Given the description of an element on the screen output the (x, y) to click on. 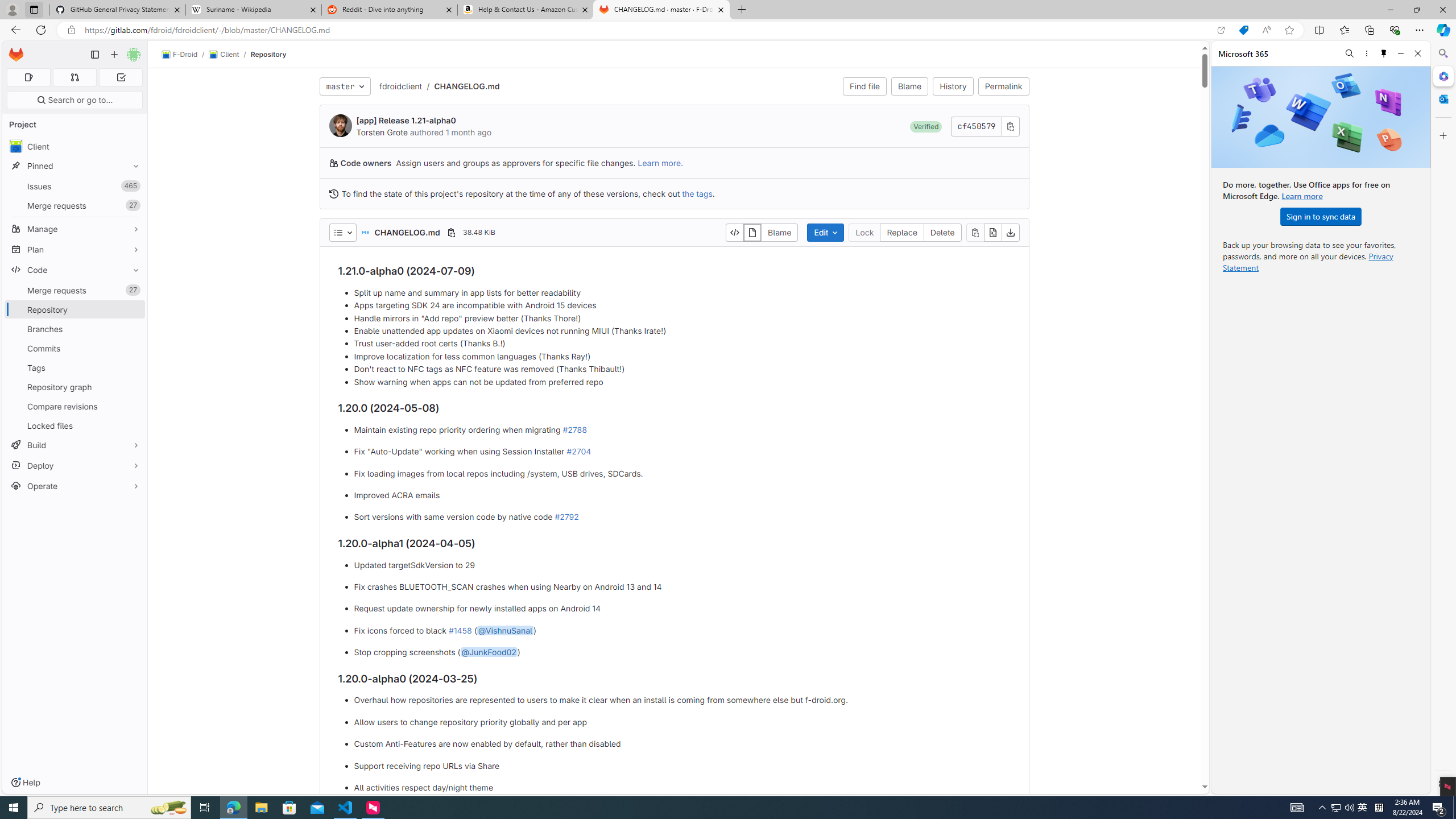
Updated targetSdkVersion to 29 (681, 564)
Repository (268, 53)
Copy file path (451, 232)
Commits (74, 348)
Issues 465 (74, 185)
[app] Release 1.21-alpha0 (405, 120)
Code (74, 269)
the tags (696, 193)
@VishnuSanal (504, 629)
Tags (74, 367)
Download (1010, 232)
Assigned issues 0 (28, 76)
Sign in to sync data (1320, 216)
